Given the description of an element on the screen output the (x, y) to click on. 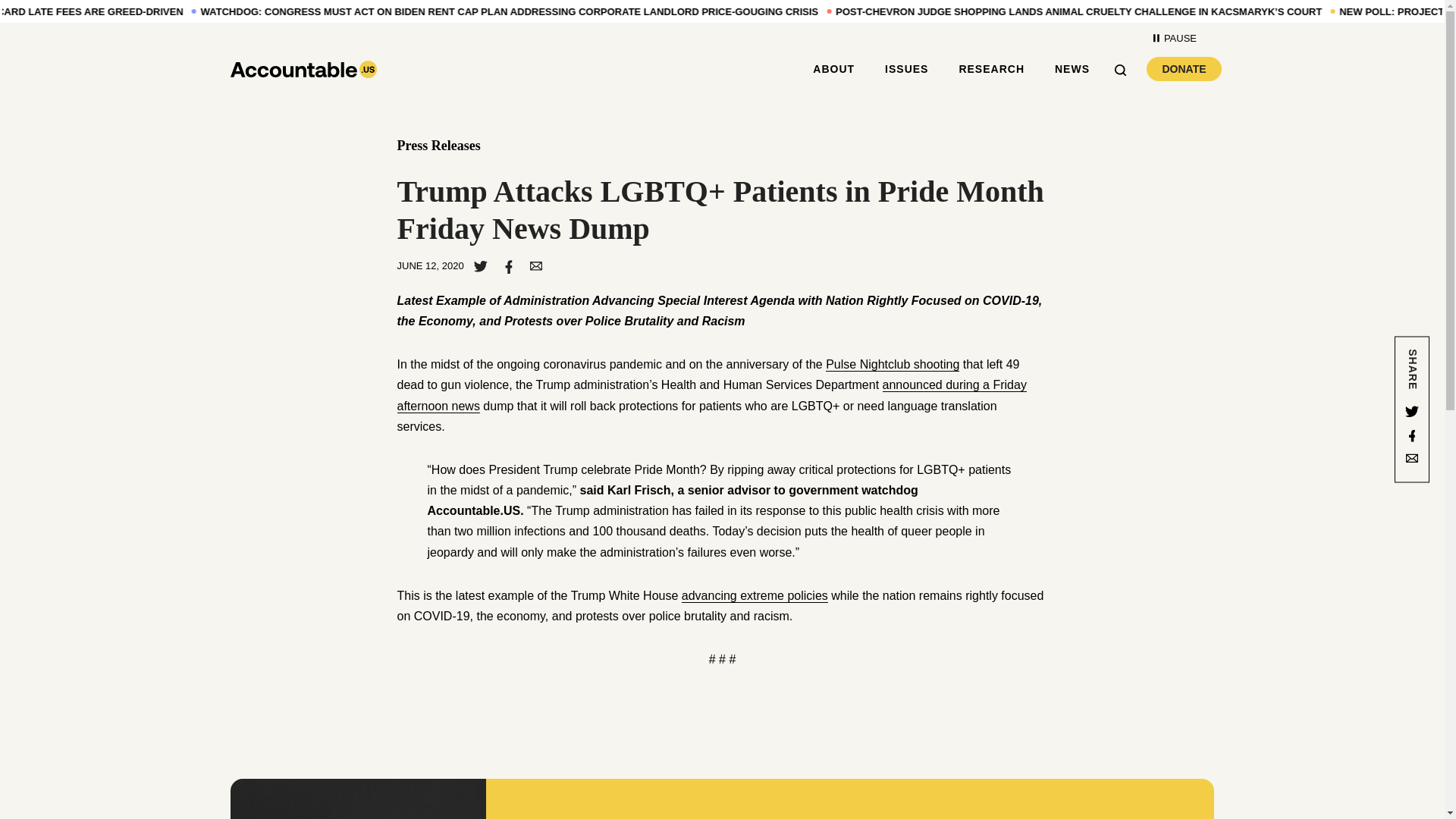
announced during a Friday afternoon news (711, 395)
ABOUT (833, 68)
Share this page on Twitter (1412, 410)
Share this page via Email (1412, 459)
Search (1125, 68)
Pulse Nightclub shooting (892, 364)
SHARE THIS PAGE ON FACEBOOK (508, 265)
advancing extreme policies (754, 595)
Share this page via Email (535, 266)
Press Releases (438, 145)
Share this page on Facebook (1184, 68)
RESEARCH (1412, 435)
SHARE THIS PAGE VIA EMAIL (991, 68)
